Given the description of an element on the screen output the (x, y) to click on. 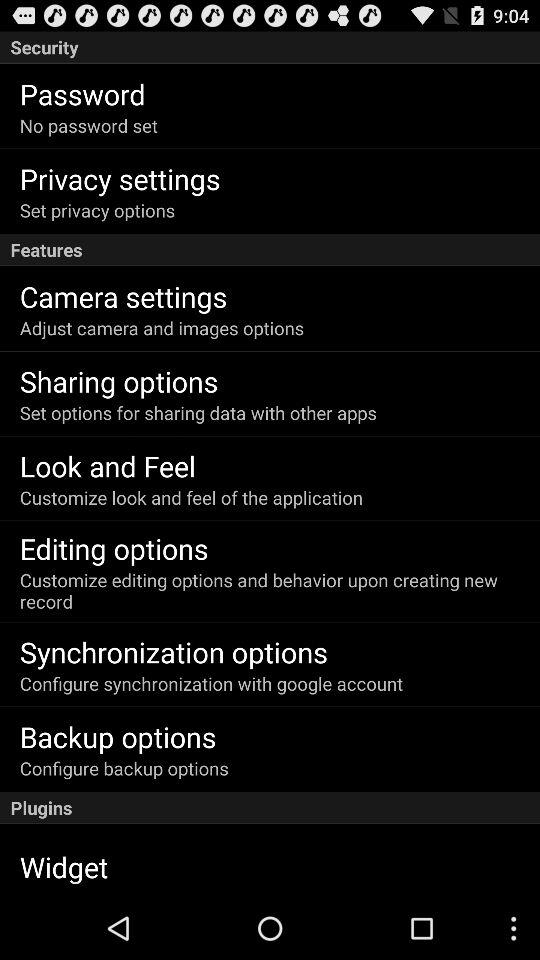
tap the plugins (270, 807)
